Given the description of an element on the screen output the (x, y) to click on. 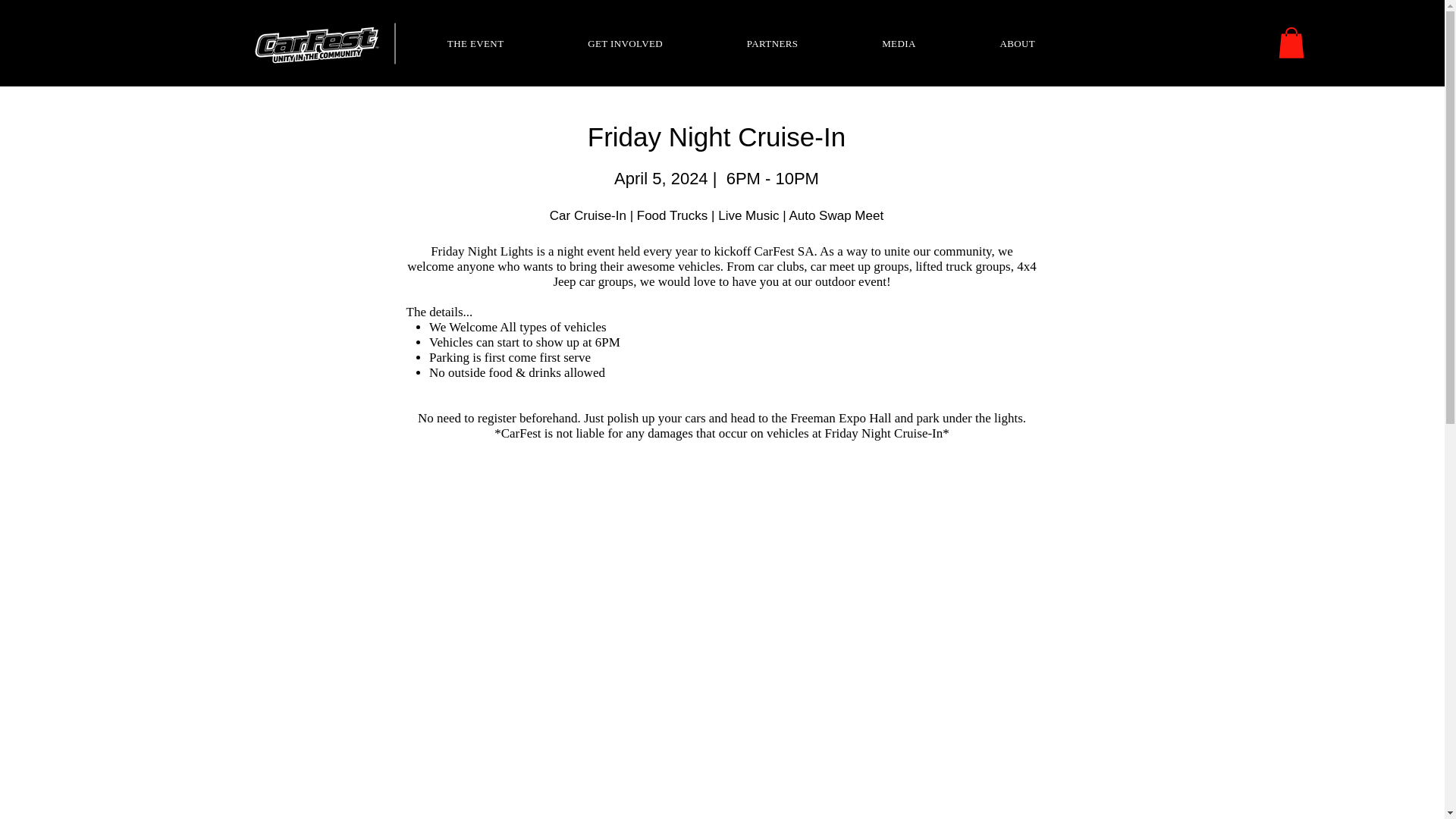
MEDIA (899, 43)
Freeman Expo Hall (840, 418)
